Given the description of an element on the screen output the (x, y) to click on. 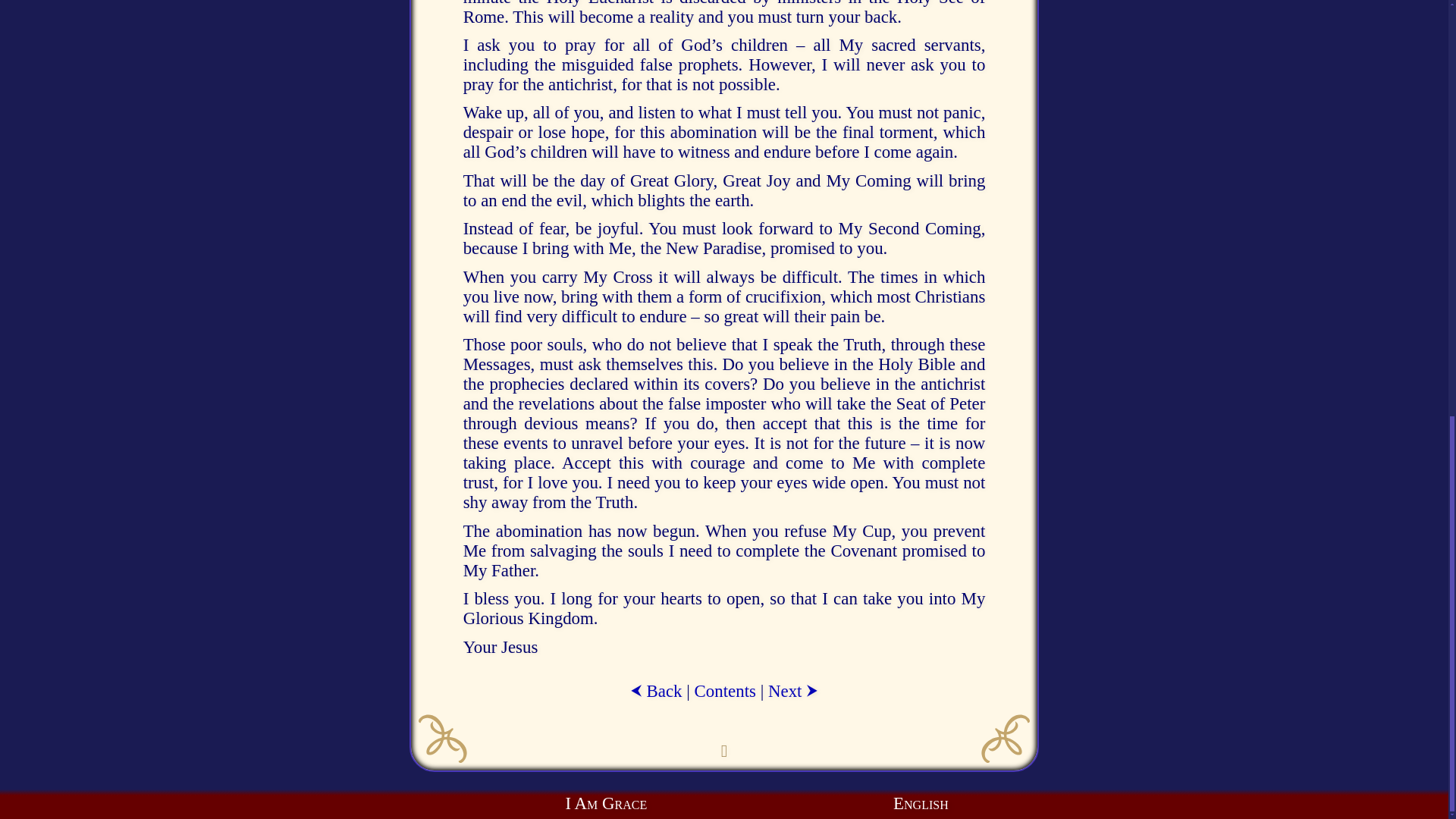
Contents (724, 690)
